Given the description of an element on the screen output the (x, y) to click on. 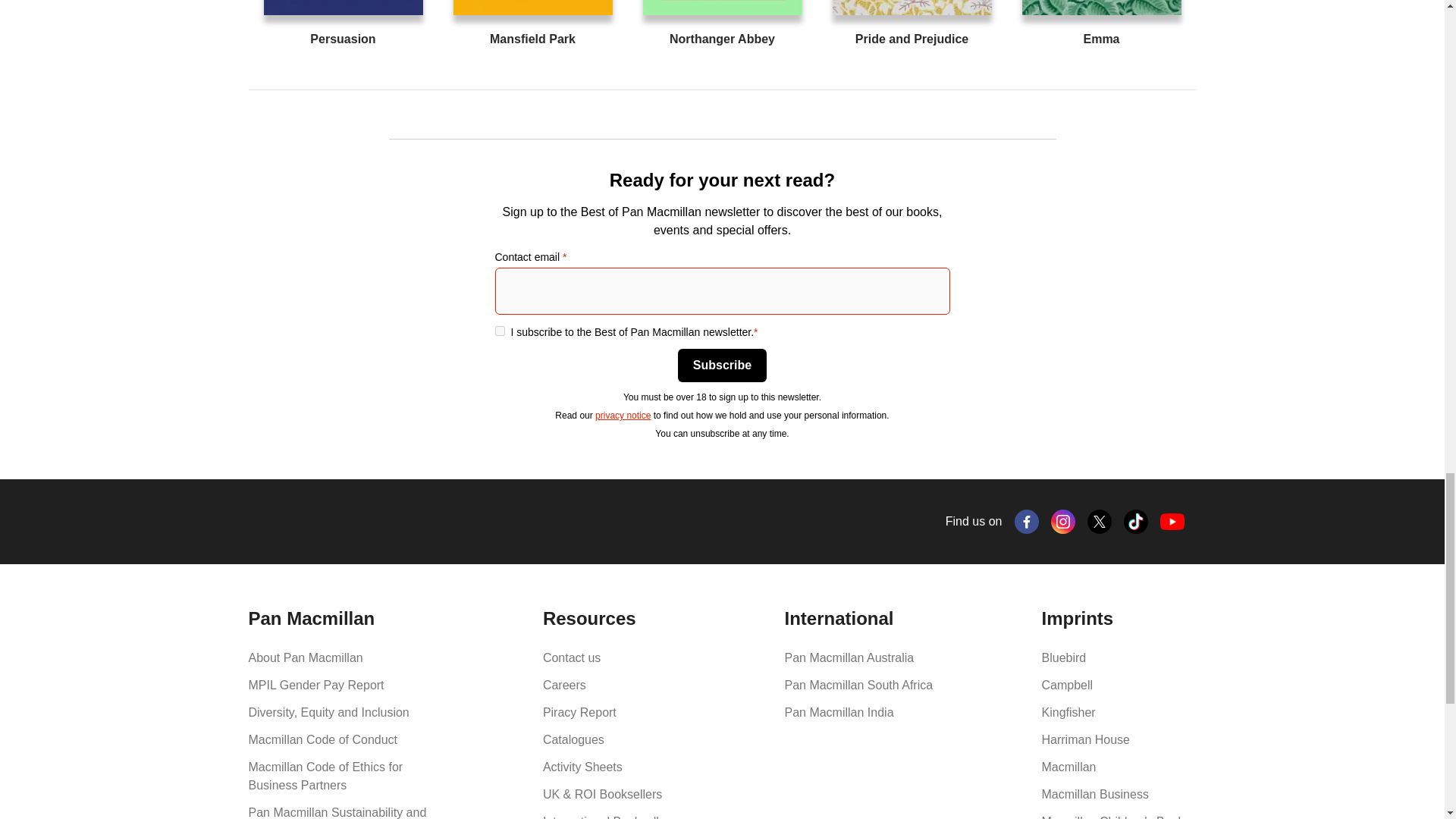
Facebook (1026, 521)
on (499, 330)
Pan Macmillan Privacy Notice (622, 415)
Subscribe (722, 365)
